Given the description of an element on the screen output the (x, y) to click on. 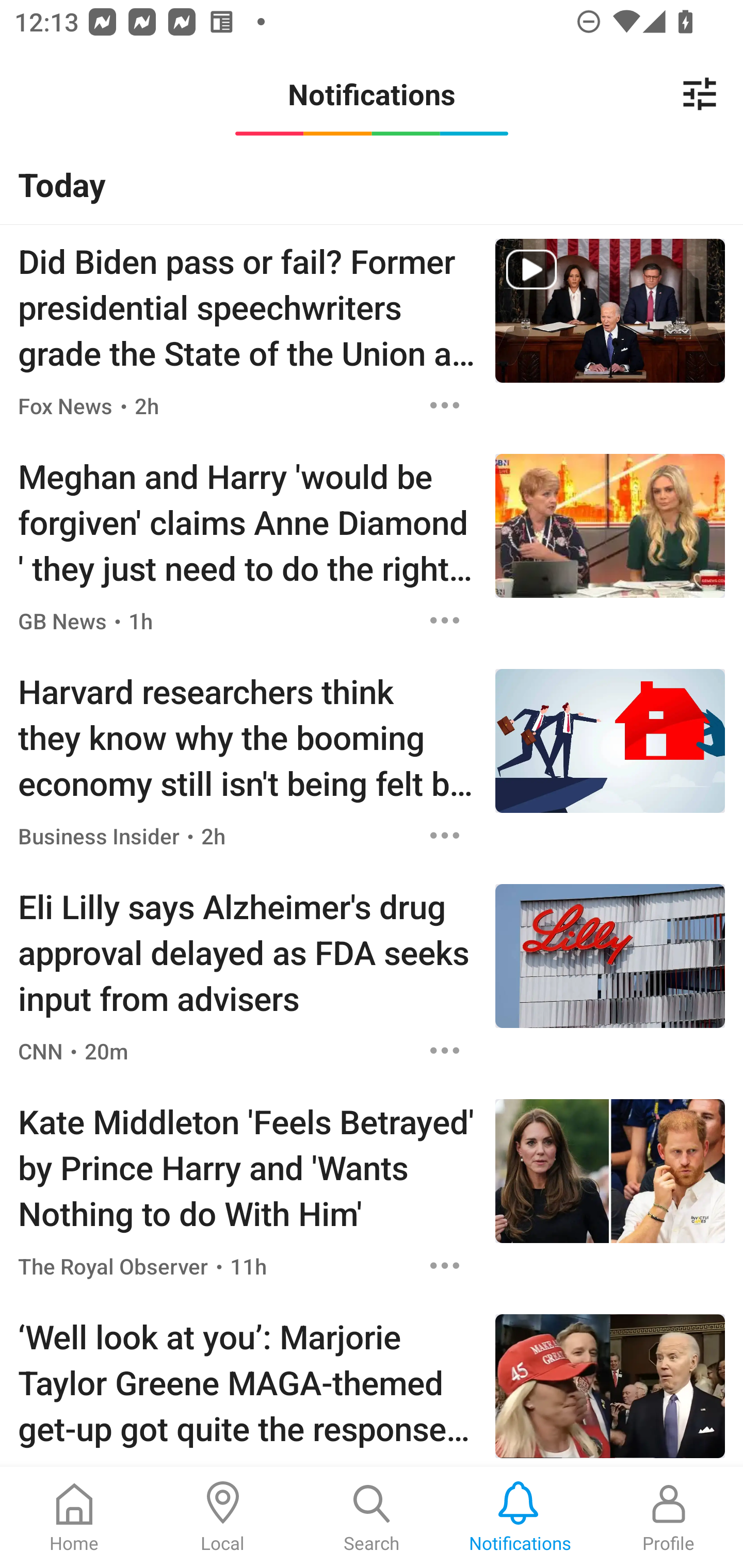
Notification Settings (699, 93)
Today (371, 184)
Options (444, 405)
Options (444, 620)
Options (444, 835)
Options (444, 1050)
Options (444, 1265)
Home (74, 1517)
Local (222, 1517)
Search (371, 1517)
Profile (668, 1517)
